Given the description of an element on the screen output the (x, y) to click on. 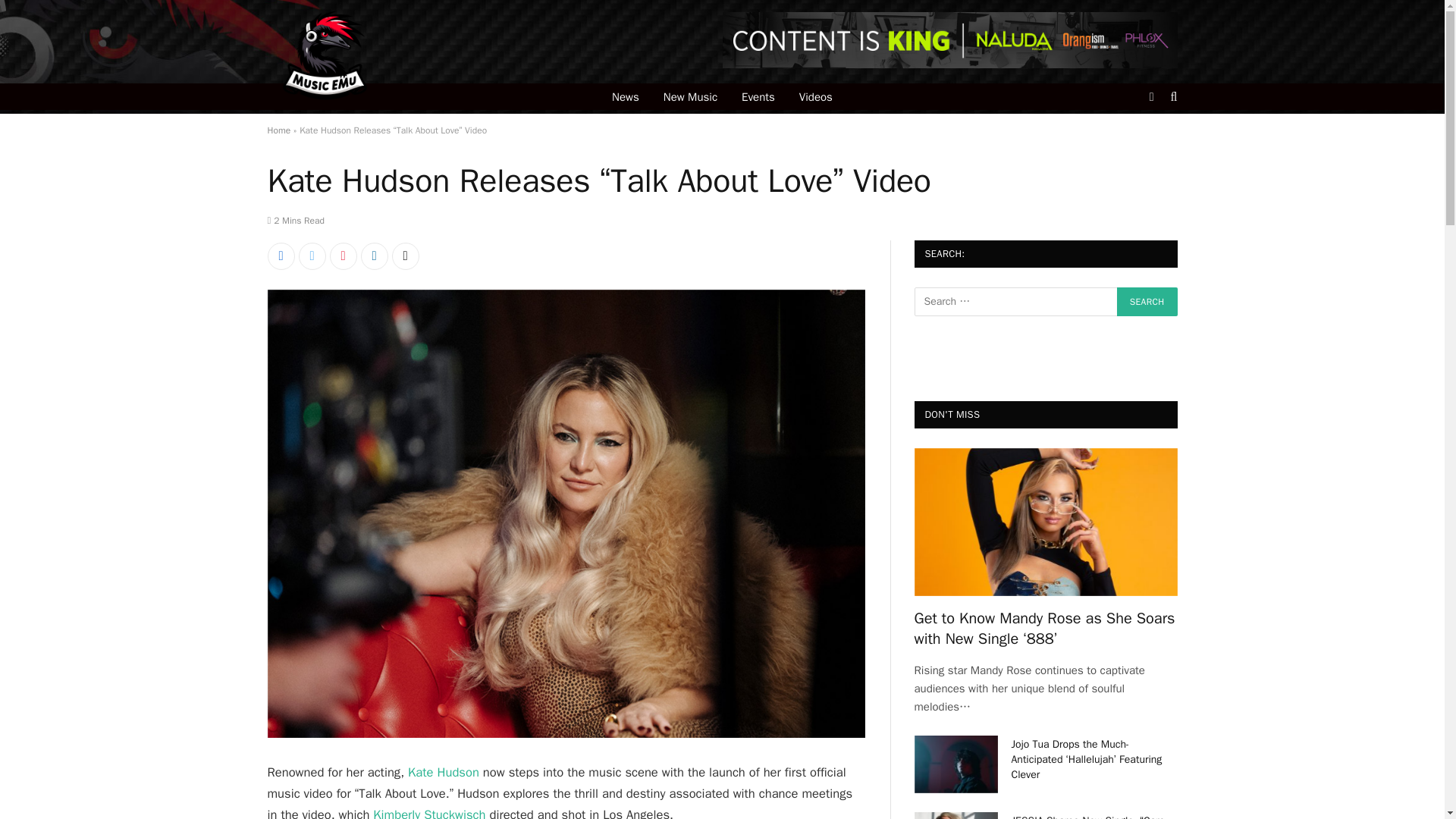
Share on LinkedIn (374, 256)
Music EMU (323, 56)
New Music (689, 96)
Kimberly Stuckwisch (428, 812)
Search (1146, 301)
Share on Facebook (280, 256)
Kate Hudson (443, 772)
News (624, 96)
Events (758, 96)
Switch to Dark Design - easier on eyes. (1151, 96)
